Given the description of an element on the screen output the (x, y) to click on. 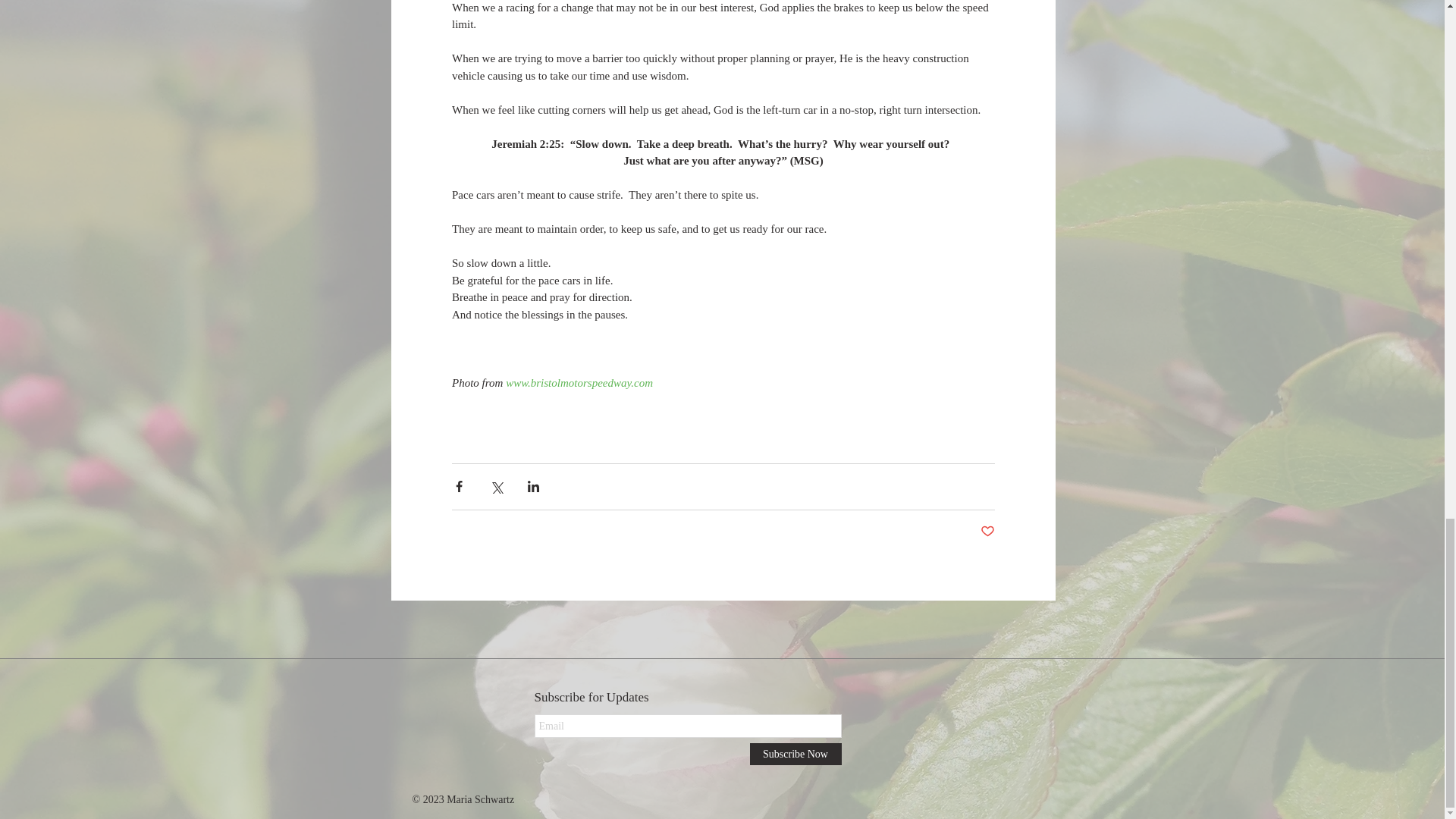
www.bristolmotorspeedway.com (578, 381)
Subscribe Now (795, 753)
Post not marked as liked (986, 531)
